Given the description of an element on the screen output the (x, y) to click on. 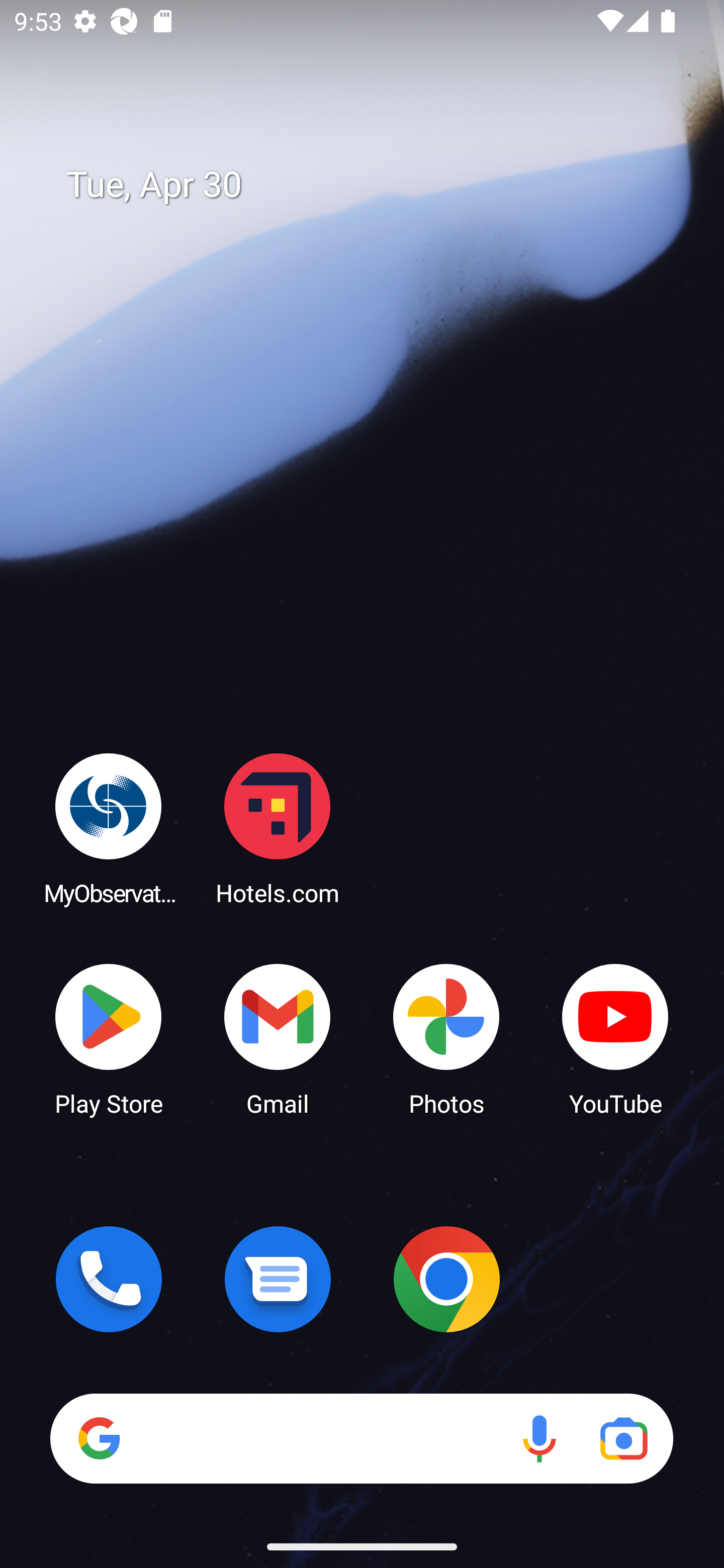
Tue, Apr 30 (375, 184)
MyObservatory (108, 828)
Hotels.com (277, 828)
Play Store (108, 1038)
Gmail (277, 1038)
Photos (445, 1038)
YouTube (615, 1038)
Phone (108, 1279)
Messages (277, 1279)
Chrome (446, 1279)
Voice search (539, 1438)
Google Lens (623, 1438)
